Given the description of an element on the screen output the (x, y) to click on. 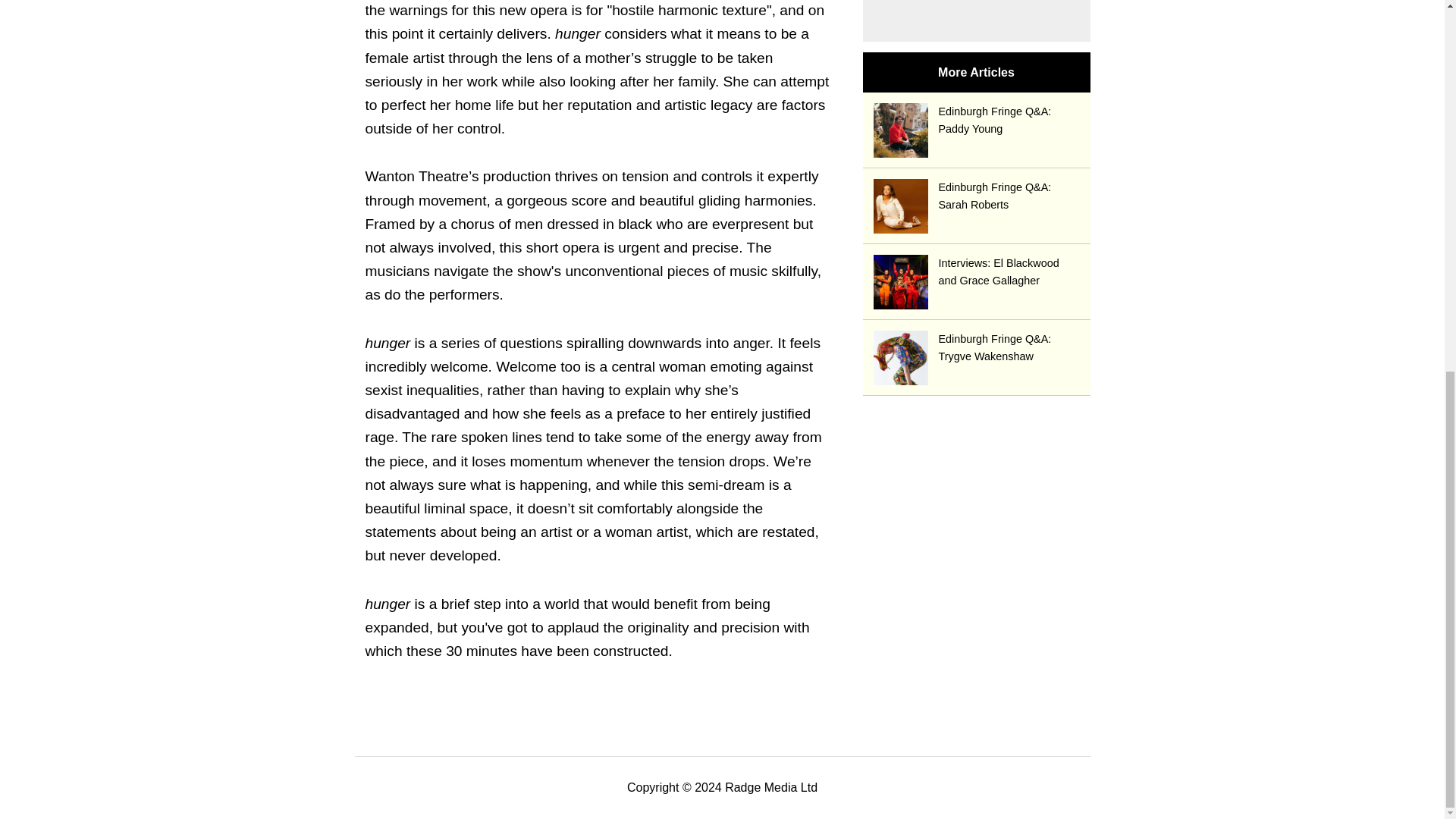
Interviews: El Blackwood and Grace Gallagher (976, 271)
